Given the description of an element on the screen output the (x, y) to click on. 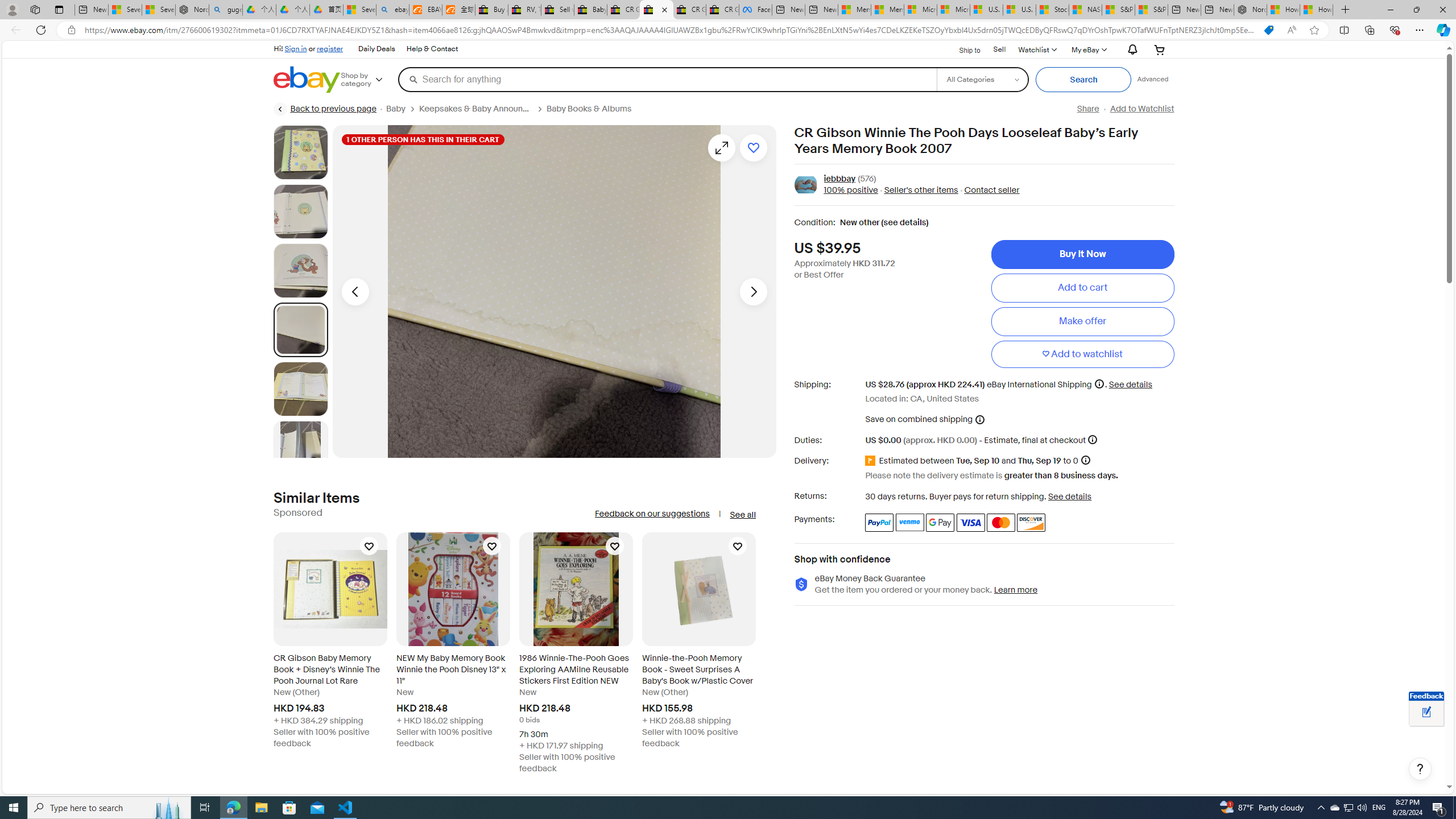
Baby Keepsakes & Announcements for sale | eBay (590, 9)
Back to previous page (325, 109)
App bar (728, 29)
Search (1083, 79)
100% positive (850, 190)
Daily Deals (376, 49)
Sell worldwide with eBay (557, 9)
eBay Home (306, 79)
S&P 500, Nasdaq end lower, weighed by Nvidia dip | Watch (1150, 9)
Expand Cart (1159, 49)
register (329, 48)
